Given the description of an element on the screen output the (x, y) to click on. 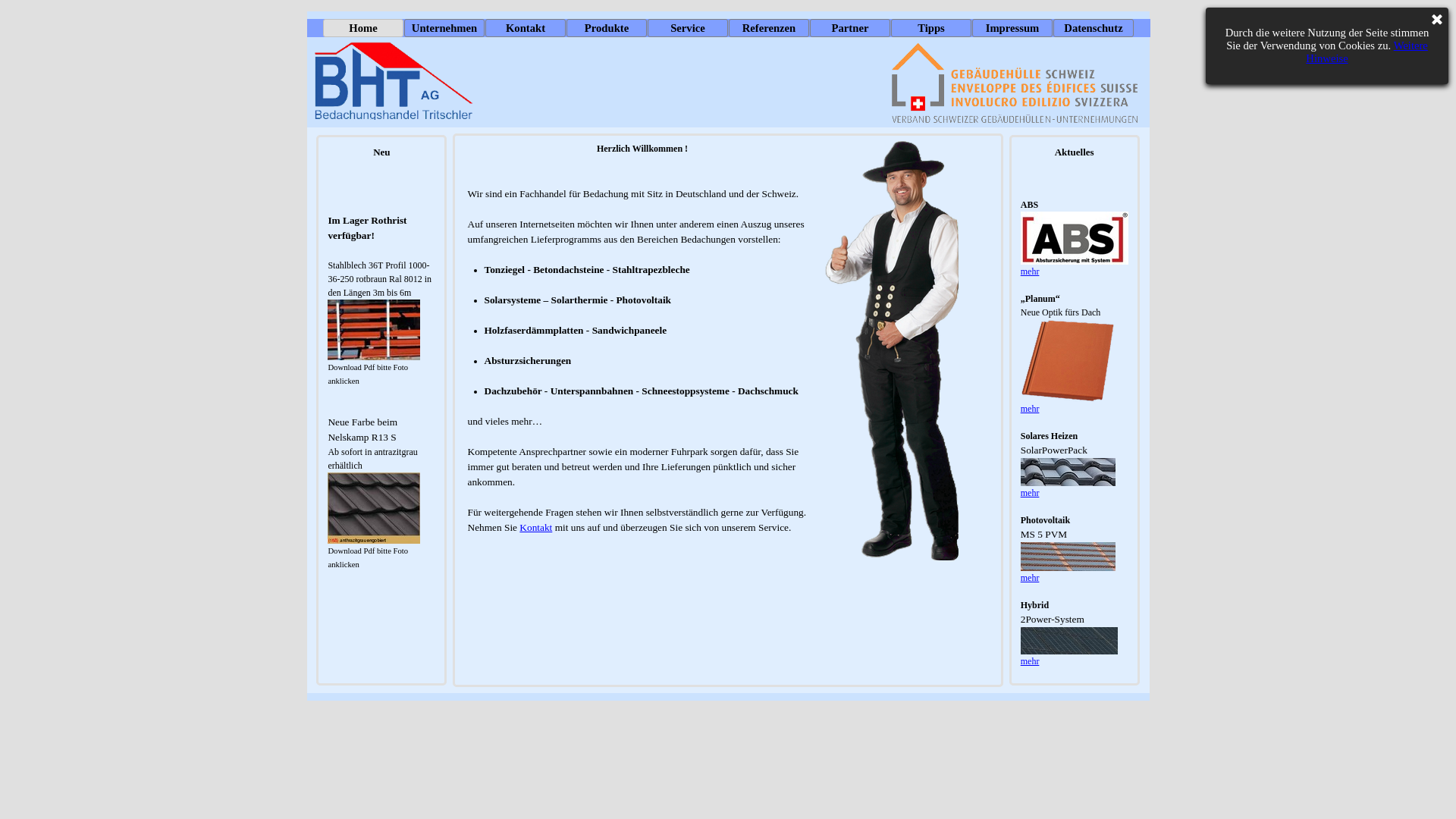
Service Element type: text (687, 27)
Weitere Hinweise Element type: text (1366, 51)
Kontakt Element type: text (525, 27)
mehr Element type: text (1029, 660)
mehr Element type: text (1029, 271)
Datenschutz Element type: text (1093, 27)
Kontakt Element type: text (535, 527)
mehr Element type: text (1029, 492)
mehr Element type: text (1029, 577)
Home Element type: text (362, 27)
mehr Element type: text (1029, 408)
Impressum Element type: text (1012, 27)
Partner Element type: text (849, 27)
